Given the description of an element on the screen output the (x, y) to click on. 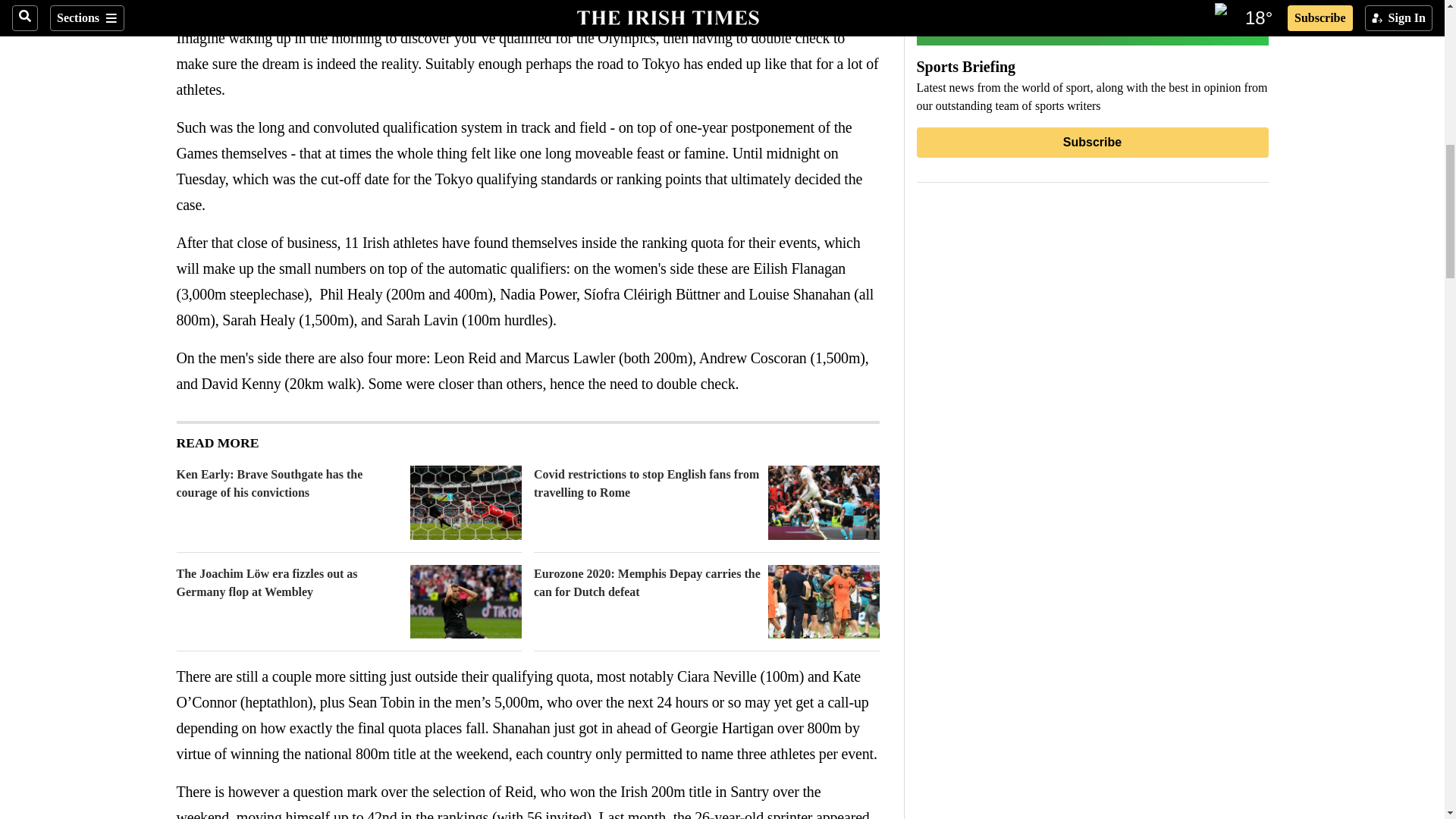
X (215, 6)
WhatsApp (244, 6)
Facebook (184, 6)
